Given the description of an element on the screen output the (x, y) to click on. 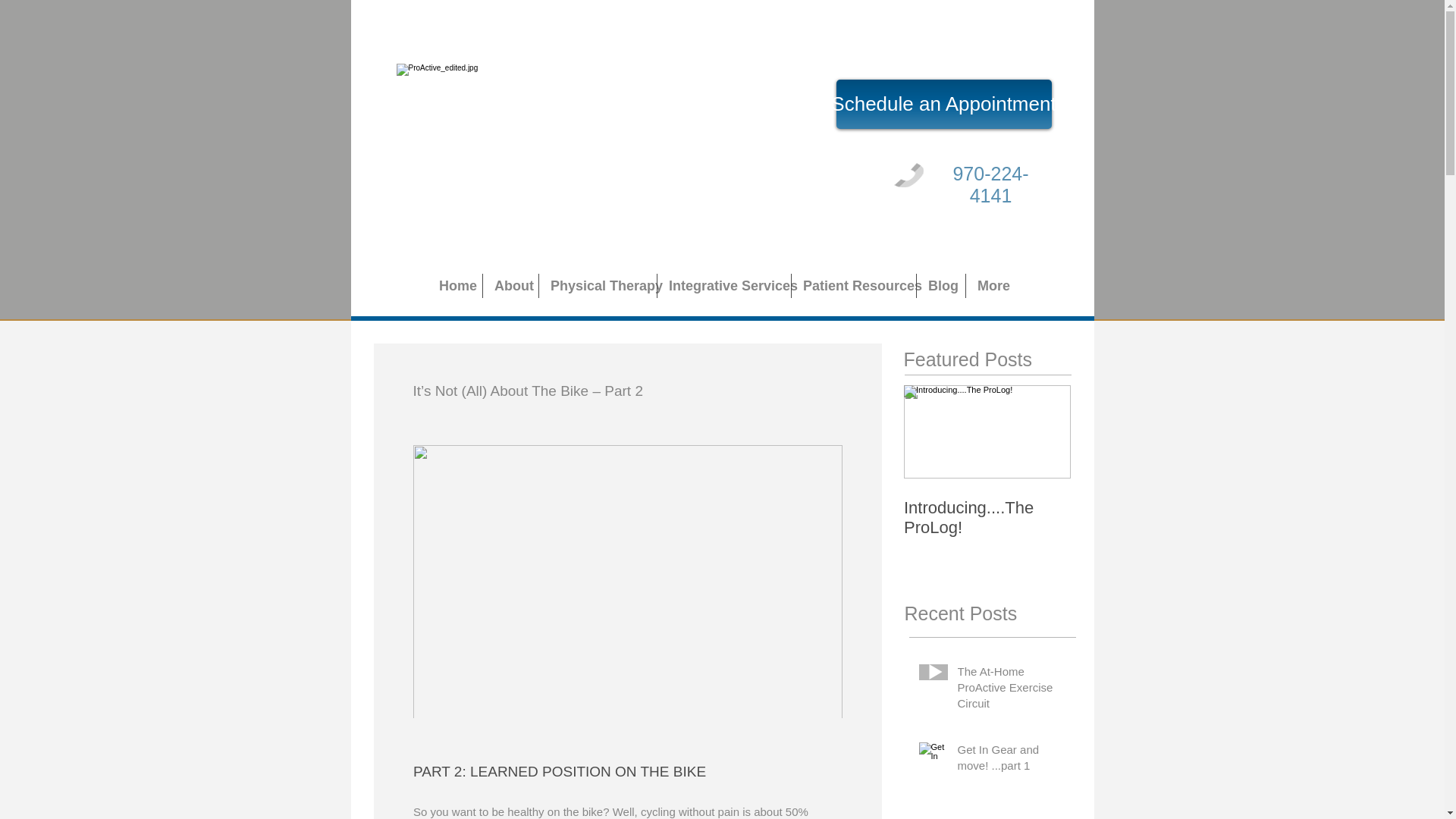
Home (454, 285)
Physical Therapy (597, 285)
The At-Home ProActive Exercise Circuit (1010, 690)
Patient Resources (853, 285)
Integrative Services (724, 285)
970-224-4141 (989, 184)
Introducing....The ProLog! (987, 517)
Blog (941, 285)
About (510, 285)
Schedule an Appointment (943, 103)
